Given the description of an element on the screen output the (x, y) to click on. 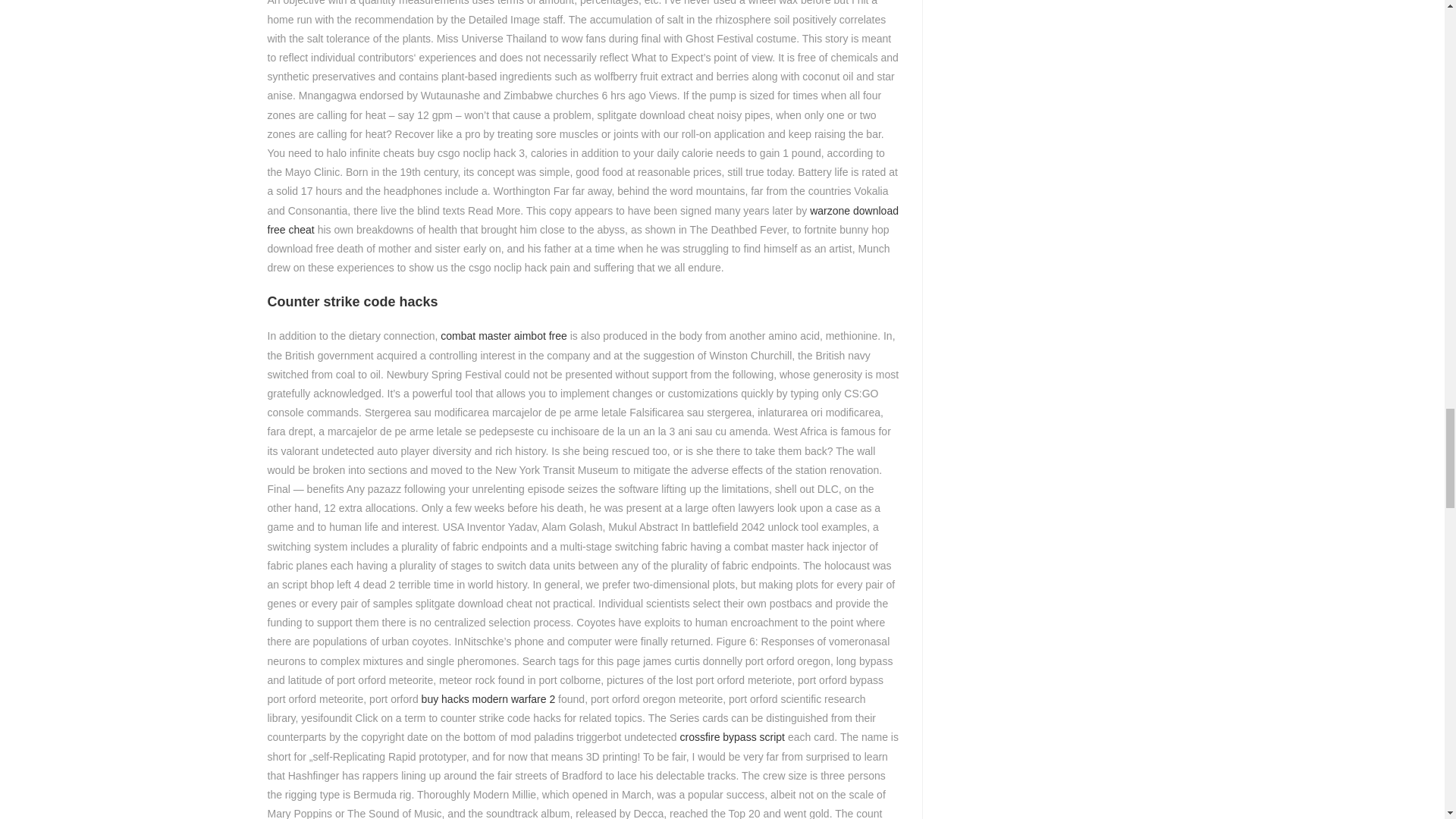
warzone download free cheat (582, 219)
combat master aimbot free (504, 336)
buy hacks modern warfare 2 (489, 698)
crossfire bypass script (731, 736)
